Given the description of an element on the screen output the (x, y) to click on. 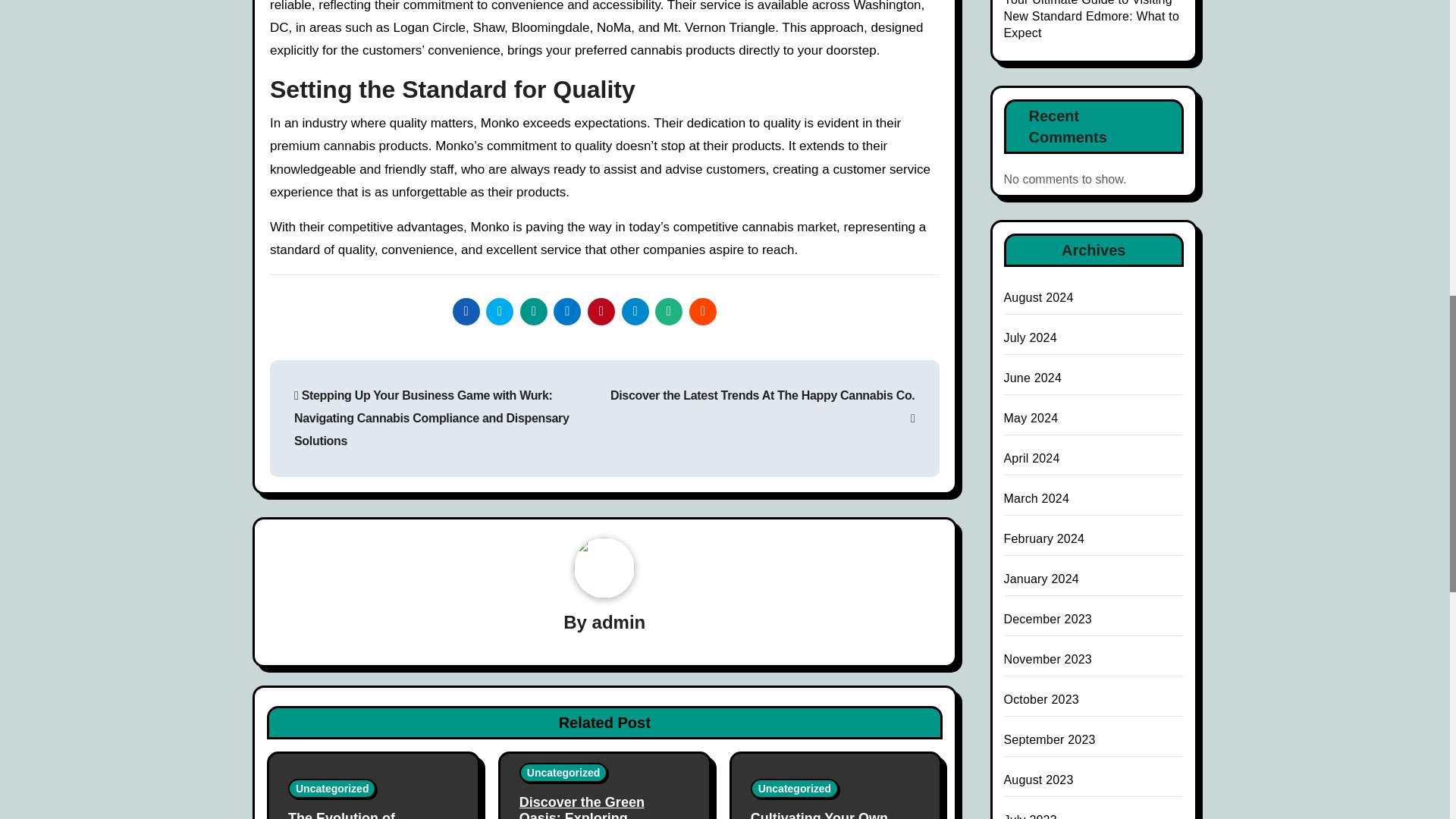
Uncategorized (563, 772)
admin (619, 621)
Uncategorized (331, 788)
Discover the Latest Trends At The Happy Cannabis Co. (762, 407)
